Given the description of an element on the screen output the (x, y) to click on. 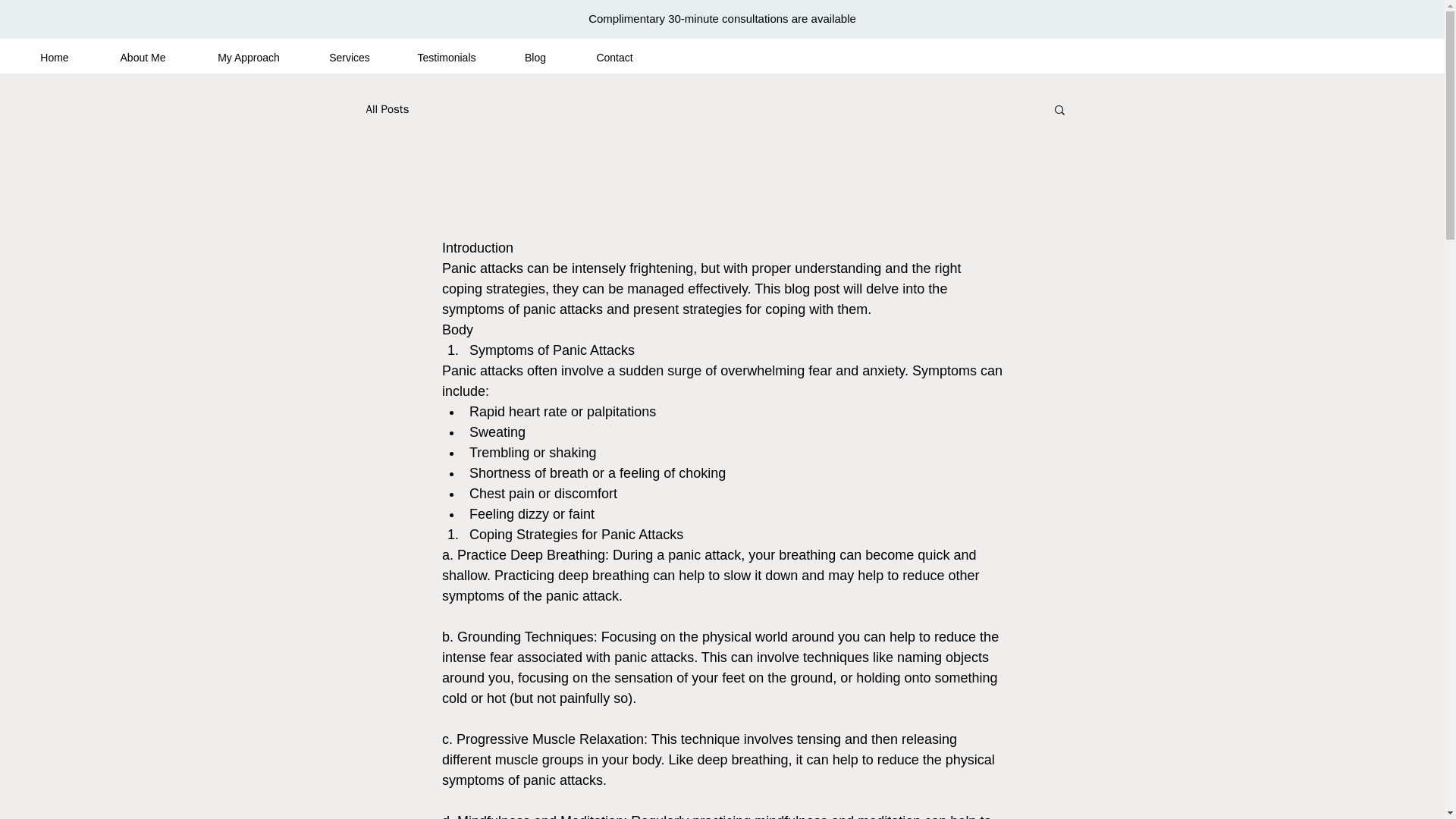
About Me (143, 57)
My Approach (248, 57)
Home (54, 57)
Blog (534, 57)
Contact (614, 57)
Testimonials (446, 57)
All Posts (387, 108)
Services (349, 57)
